Given the description of an element on the screen output the (x, y) to click on. 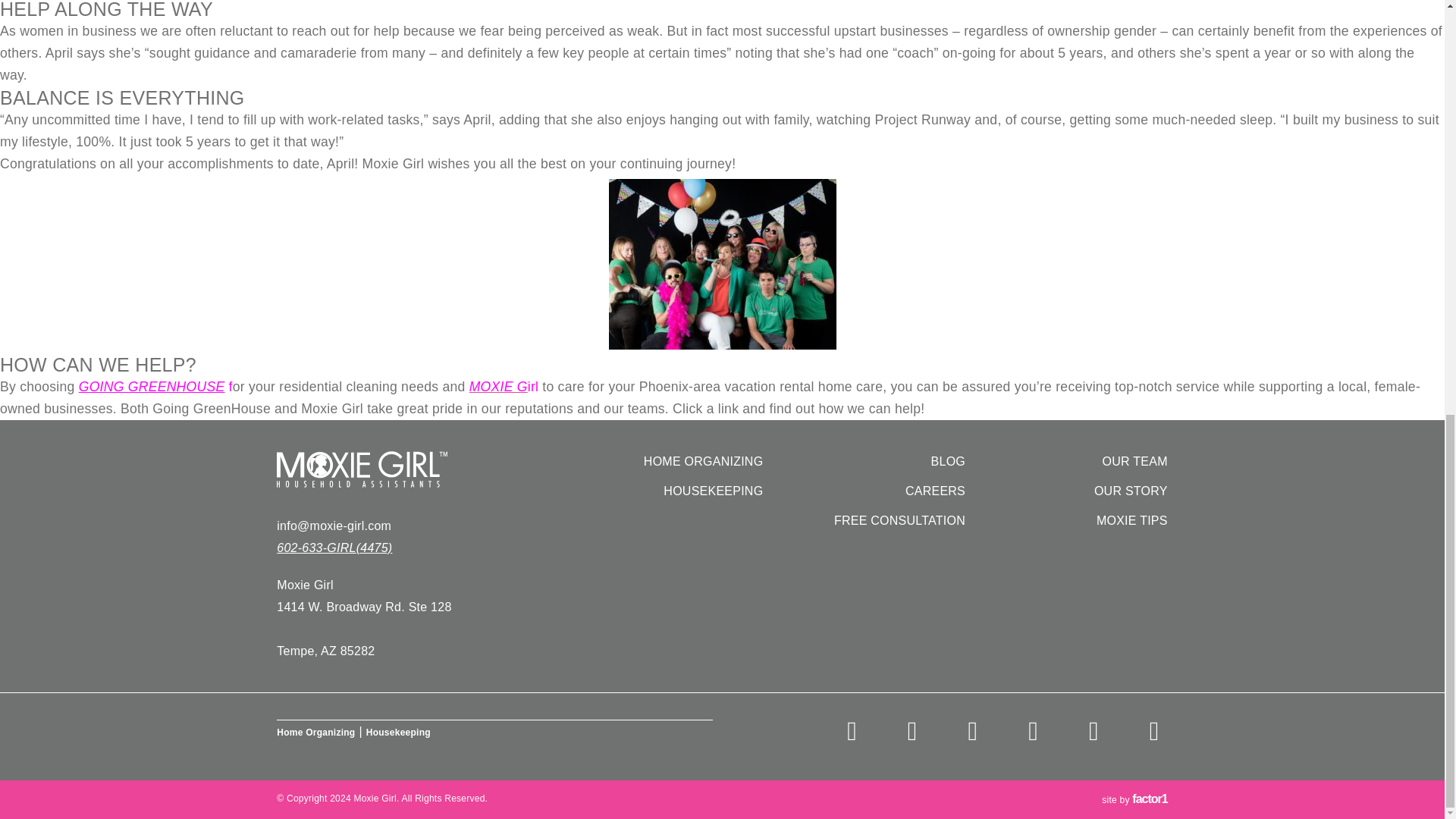
GOING GREENHOUSE (151, 386)
MOXIE G (497, 386)
MOXIE GIRL (418, 469)
